Given the description of an element on the screen output the (x, y) to click on. 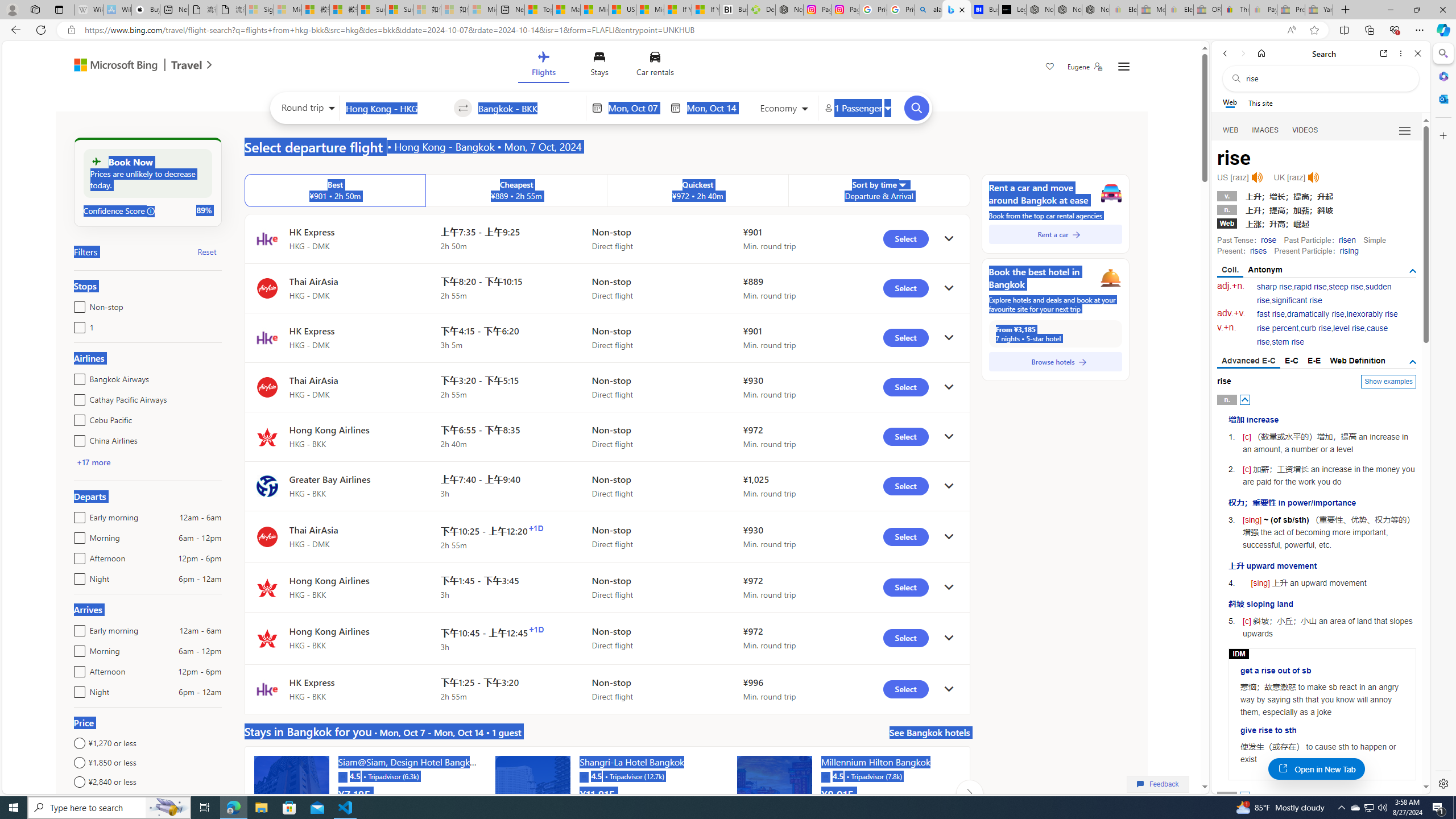
Stays (598, 65)
fast rise (1270, 313)
Sort by time Sorter Departure & Arrival (879, 190)
Save (1049, 67)
Search Filter, VIDEOS (1304, 129)
Save (1049, 67)
Web scope (1230, 102)
